Given the description of an element on the screen output the (x, y) to click on. 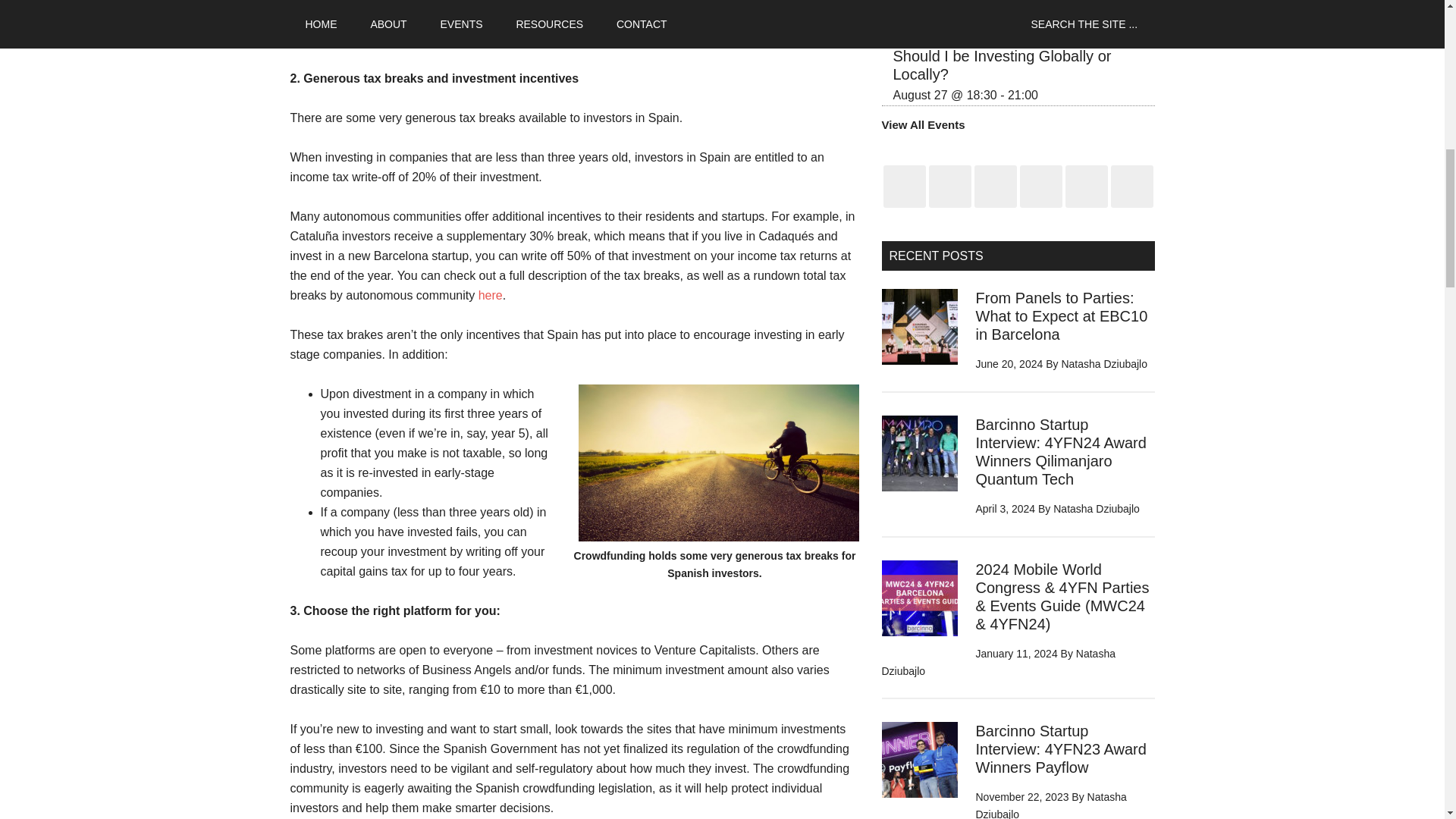
here (490, 295)
